Given the description of an element on the screen output the (x, y) to click on. 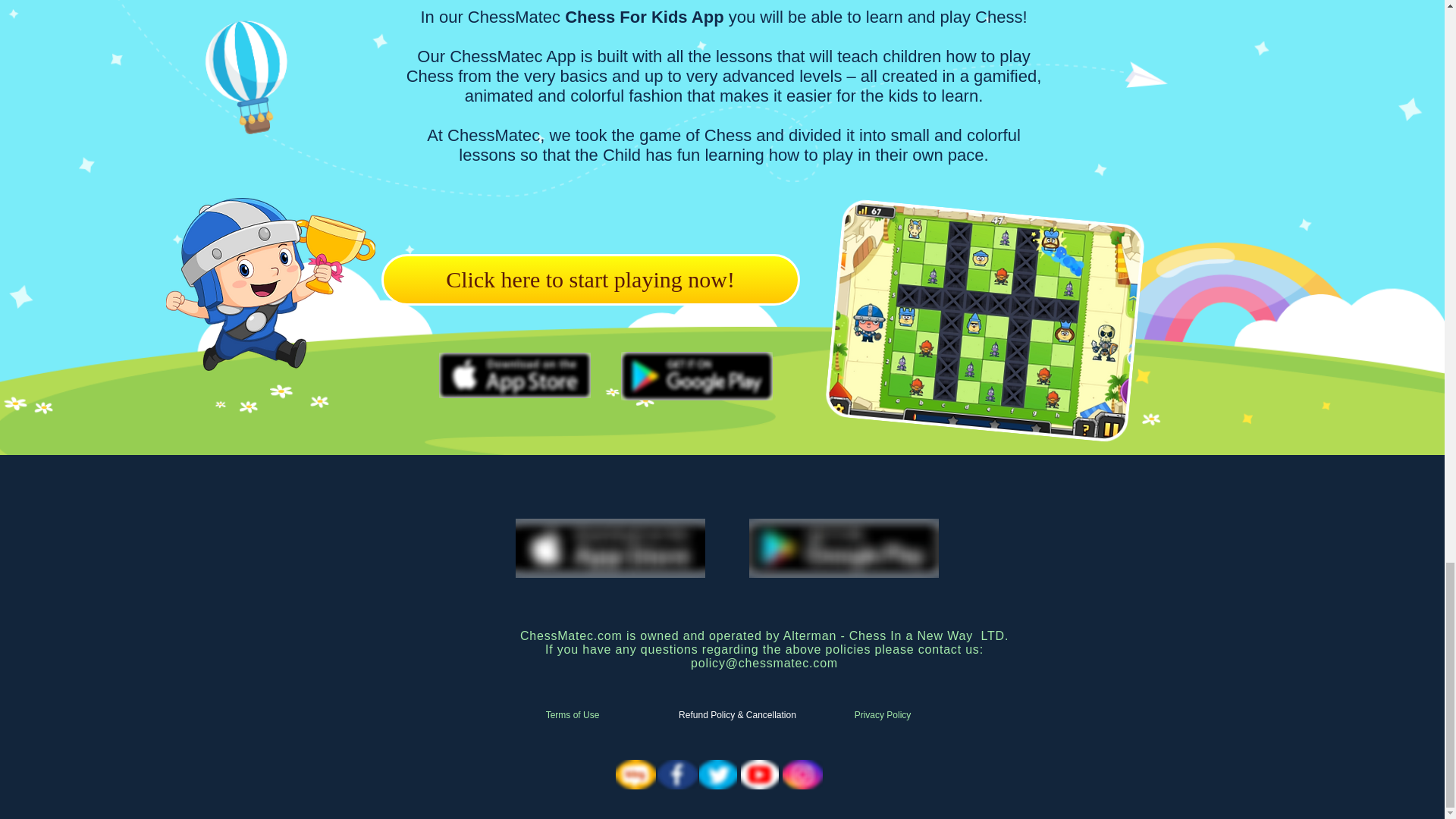
Privacy Policy (882, 715)
Terms of Use (571, 715)
Click here to start playing now! (589, 279)
